Given the description of an element on the screen output the (x, y) to click on. 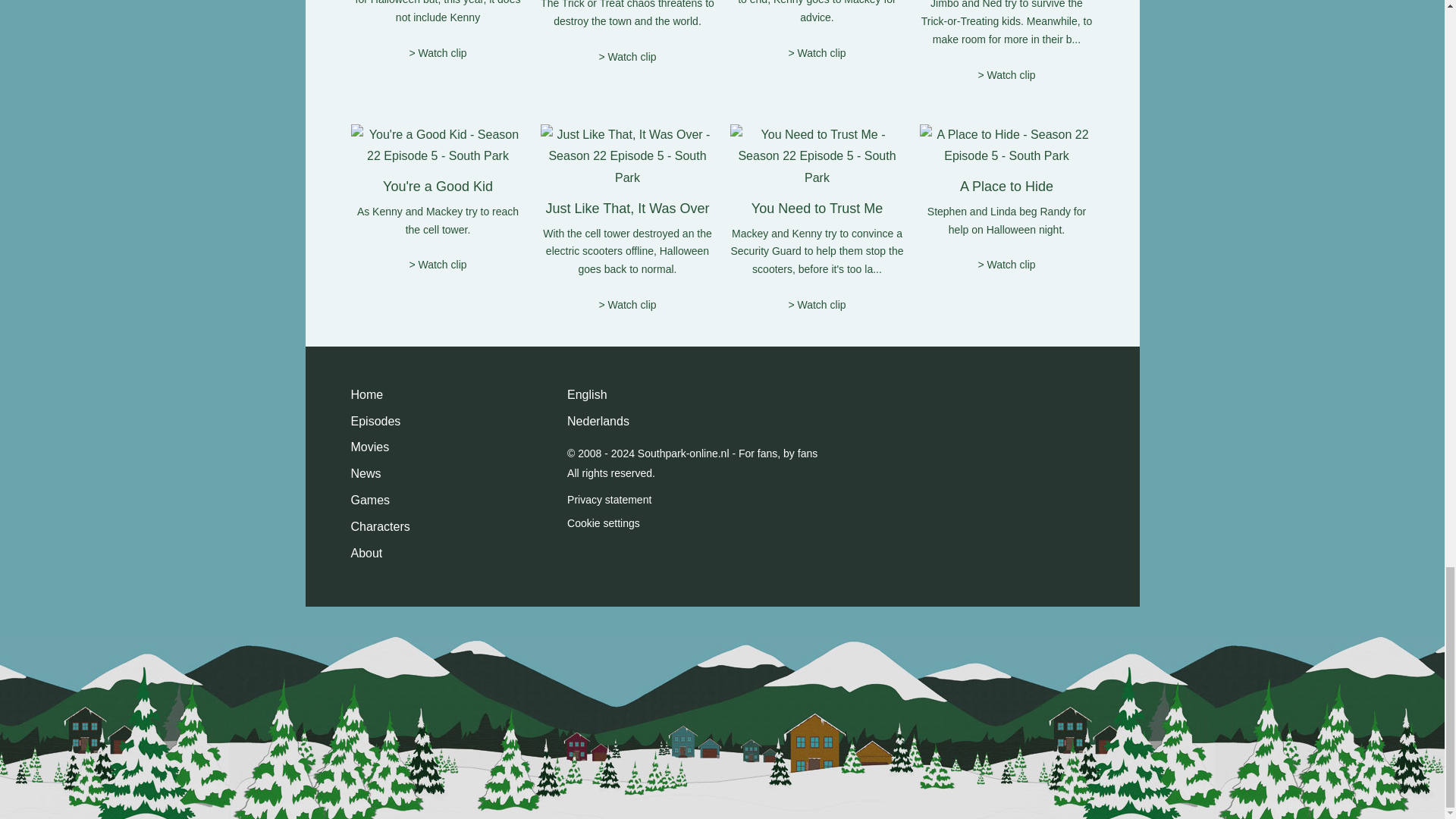
You Need to Trust Me - Season 22 Episode 5 - South Park (816, 156)
You're a Good Kid - Season 22 Episode 5 - South Park (437, 146)
News (365, 474)
Home (366, 395)
Characters (379, 527)
Games (370, 500)
Episodes (375, 422)
About (365, 553)
Movies (369, 447)
A Place to Hide - Season 22 Episode 5 - South Park (1005, 146)
